Given the description of an element on the screen output the (x, y) to click on. 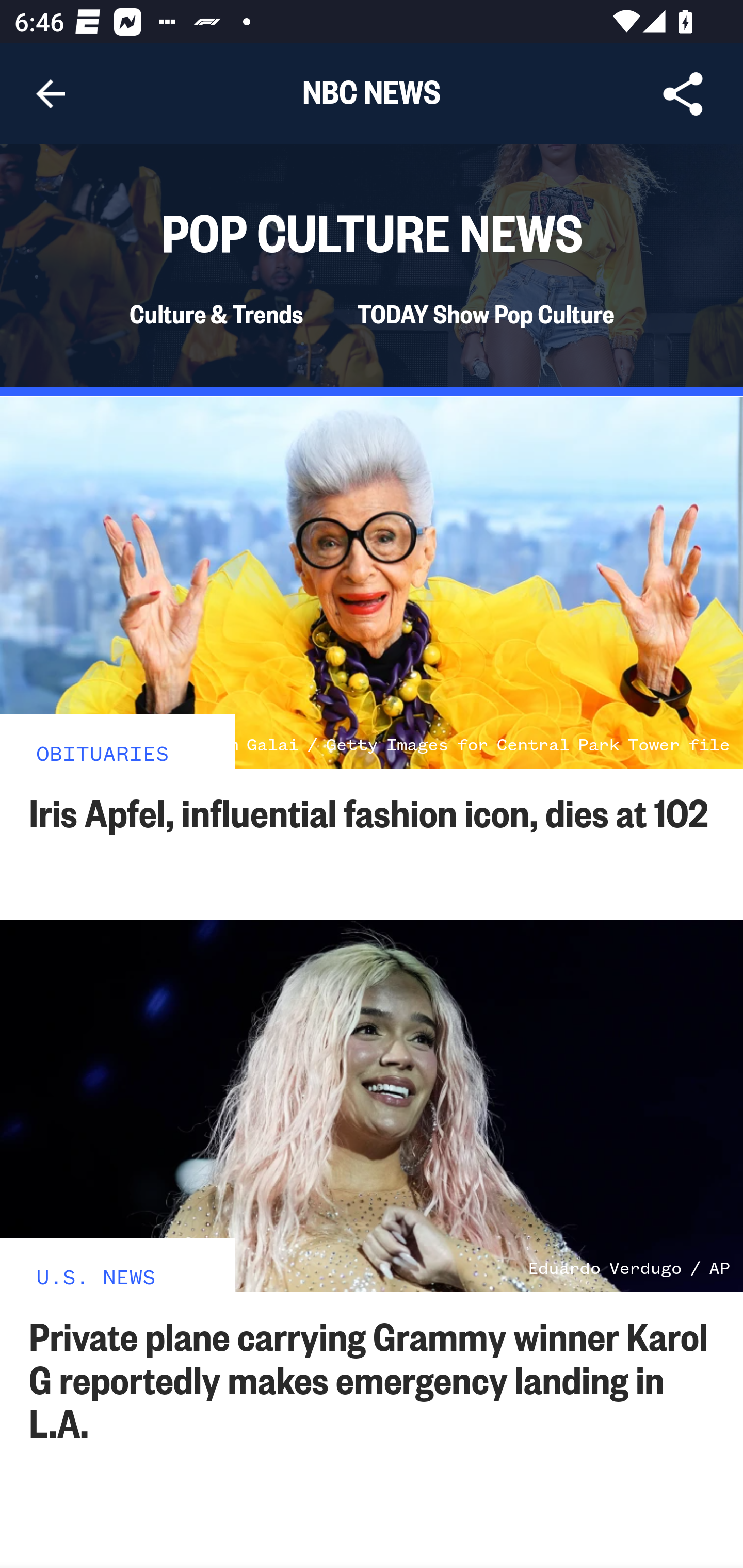
Navigate up (50, 93)
Share Article, button (683, 94)
Culture & Trends (215, 313)
TODAY Show Pop Culture (485, 313)
OBITUARIES (102, 751)
Iris Apfel, influential fashion icon, dies at 102 (368, 811)
U.S. NEWS (96, 1275)
